Given the description of an element on the screen output the (x, y) to click on. 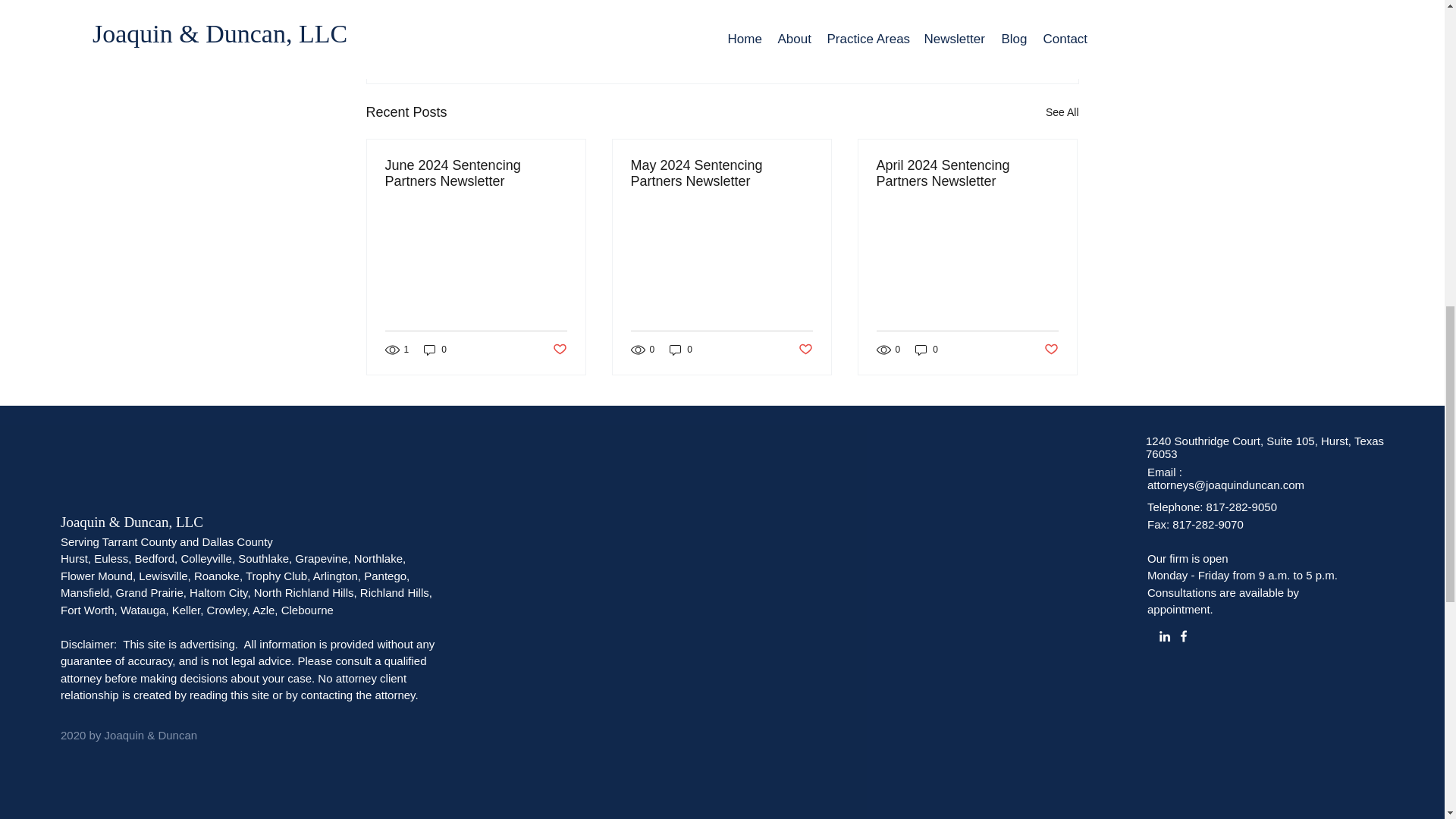
0 (681, 350)
Post not marked as liked (804, 349)
Post not marked as liked (1050, 349)
See All (1061, 112)
Post not marked as liked (558, 349)
June 2024 Sentencing Partners Newsletter (476, 173)
0 (435, 350)
0 (926, 350)
May 2024 Sentencing Partners Newsletter (721, 173)
Post not marked as liked (995, 29)
April 2024 Sentencing Partners Newsletter (967, 173)
